Given the description of an element on the screen output the (x, y) to click on. 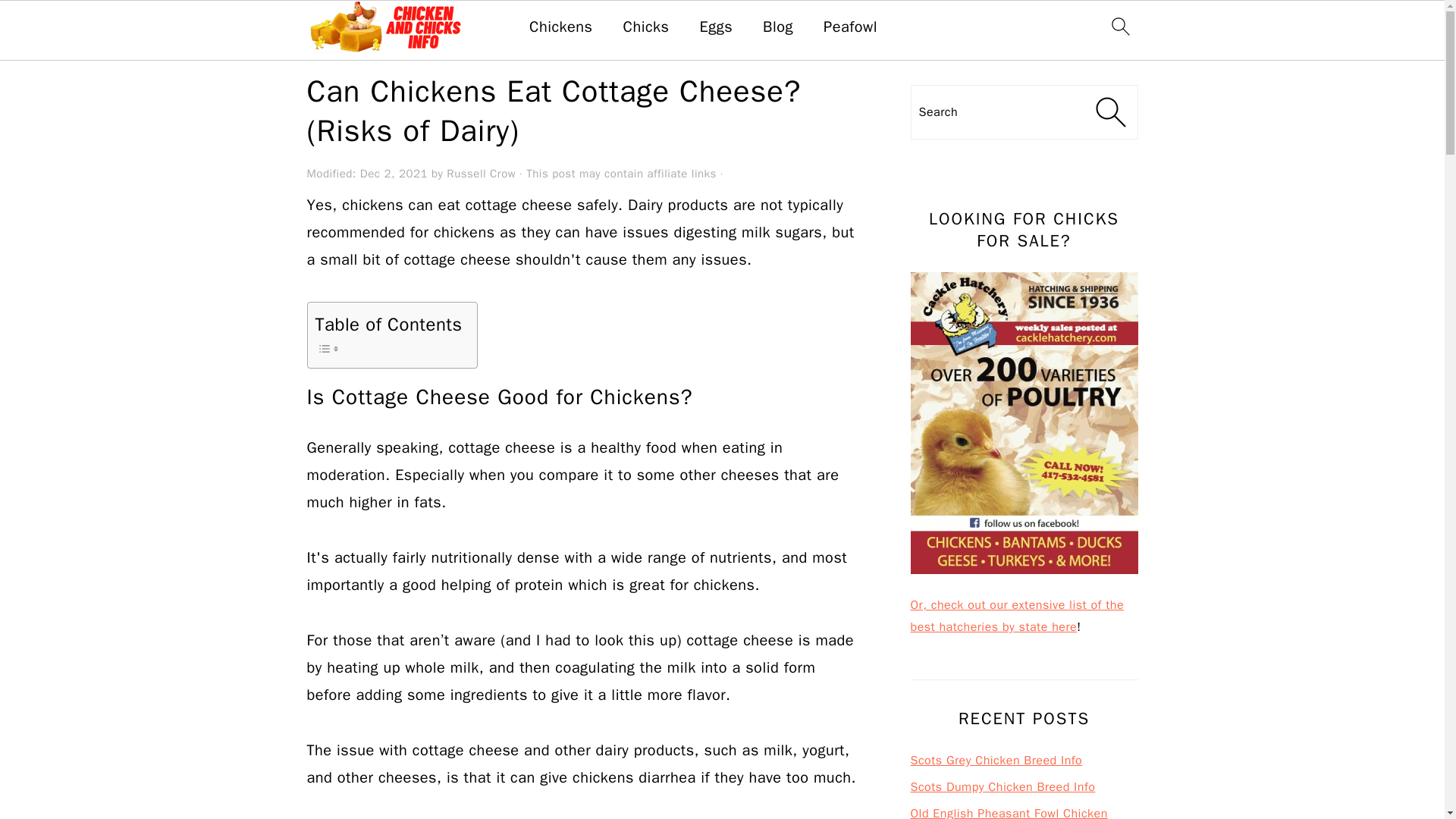
Eggs (715, 27)
Blog (777, 27)
Peafowl (850, 27)
search icon (1119, 26)
Chickens (560, 27)
Chicks (646, 27)
